Given the description of an element on the screen output the (x, y) to click on. 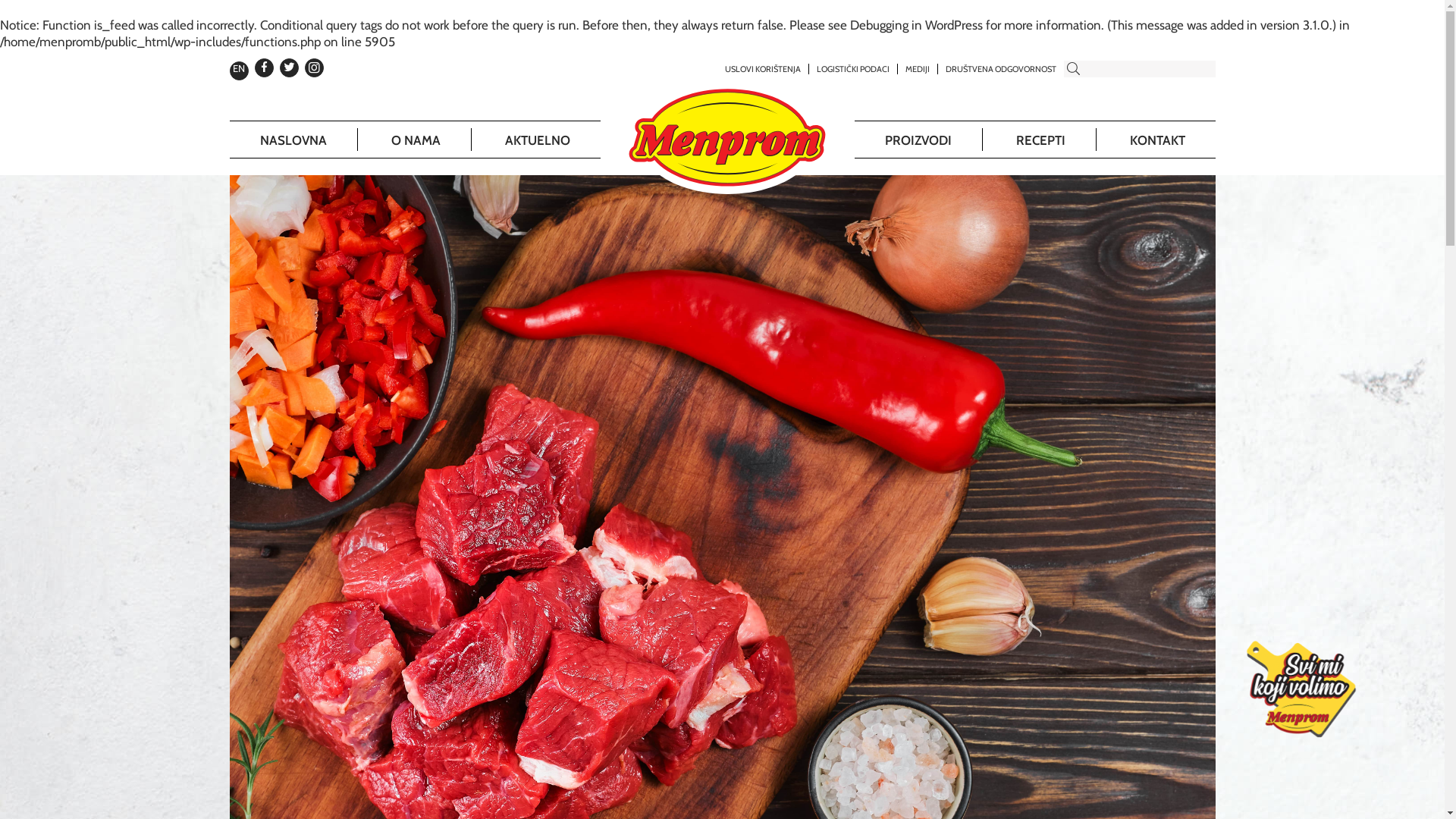
O NAMA Element type: text (415, 139)
Debugging in WordPress Element type: text (916, 24)
AKTUELNO Element type: text (537, 139)
KONTAKT Element type: text (1157, 139)
EN Element type: text (238, 68)
MEDIJI Element type: text (917, 68)
RECEPTI Element type: text (1040, 139)
PROIZVODI Element type: text (917, 139)
NASLOVNA Element type: text (292, 139)
